Given the description of an element on the screen output the (x, y) to click on. 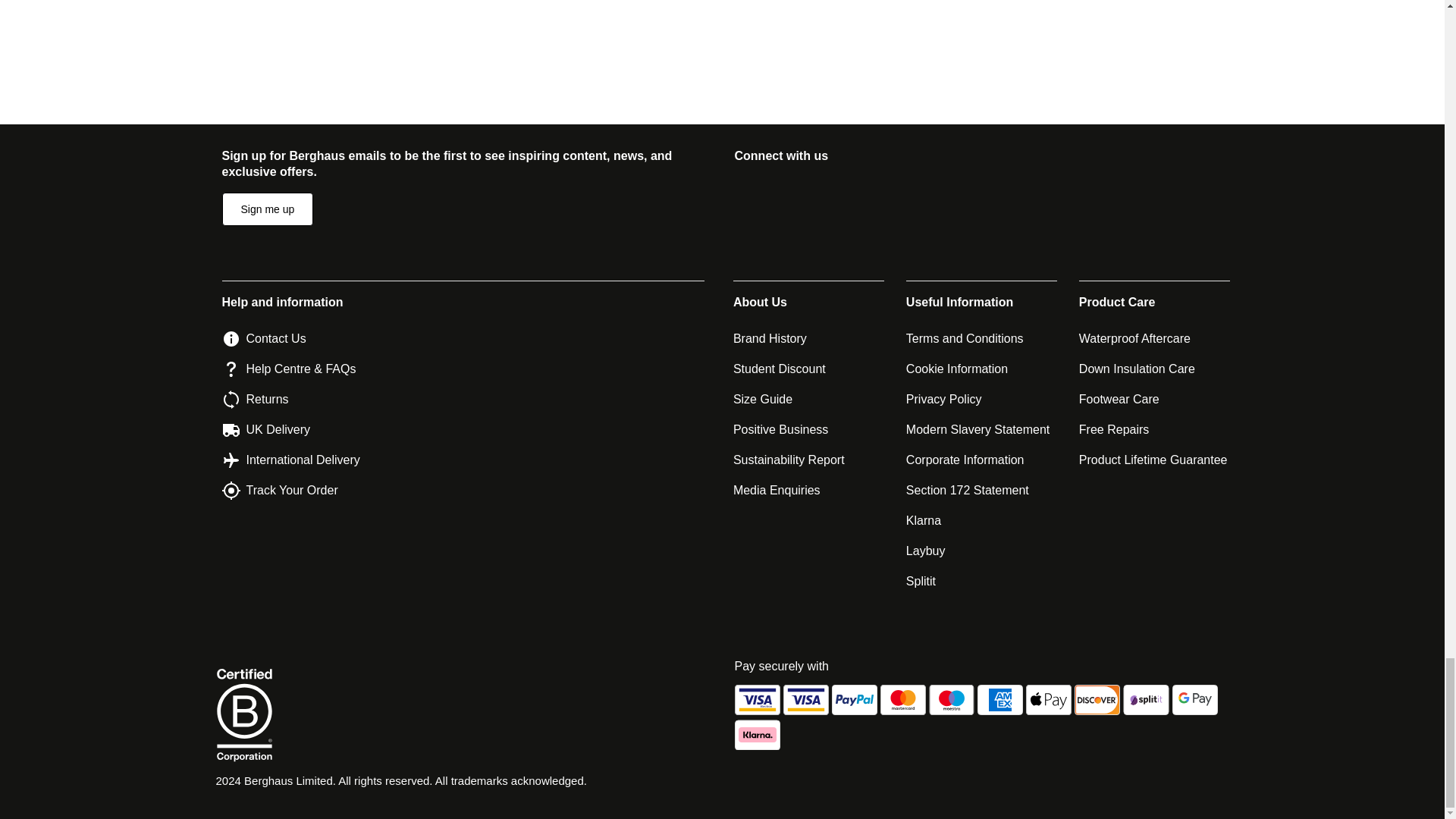
Visa Electron (755, 699)
Customer reviews powered by Trustpilot (728, 19)
Mastercard (901, 699)
Visa (805, 699)
PayPal (853, 699)
